Given the description of an element on the screen output the (x, y) to click on. 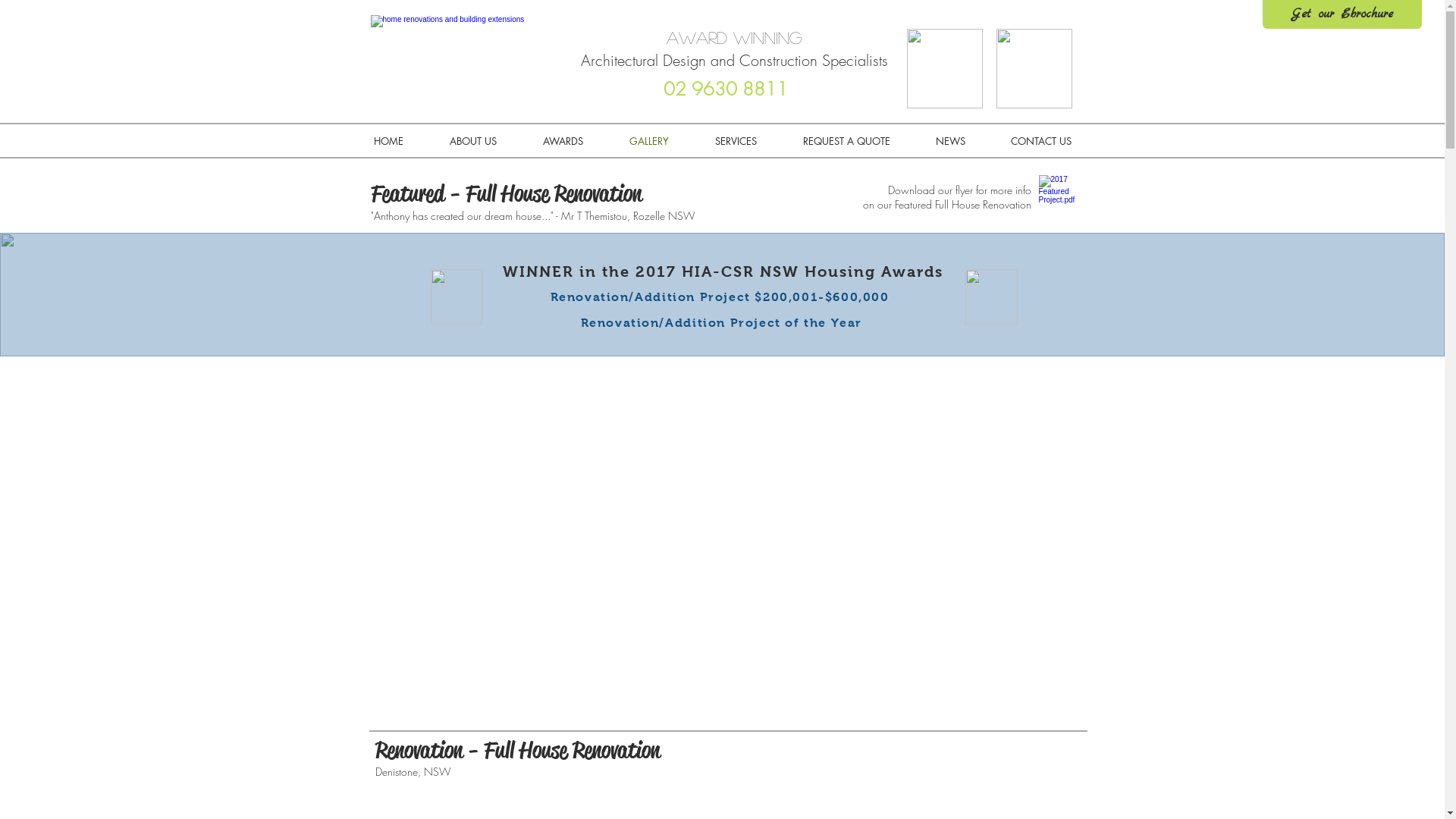
John R Dean Constructions Element type: hover (461, 59)
GALLERY Element type: text (649, 140)
CONTACT US Element type: text (1040, 140)
Get our Ebrochure Element type: text (1341, 14)
HOME Element type: text (388, 140)
REQUEST A QUOTE Element type: text (845, 140)
AWARDS Element type: text (563, 140)
ABOUT US Element type: text (472, 140)
NEWS Element type: text (950, 140)
2017 Featured Project.pdf Element type: hover (1050, 198)
SERVICES Element type: text (735, 140)
